Given the description of an element on the screen output the (x, y) to click on. 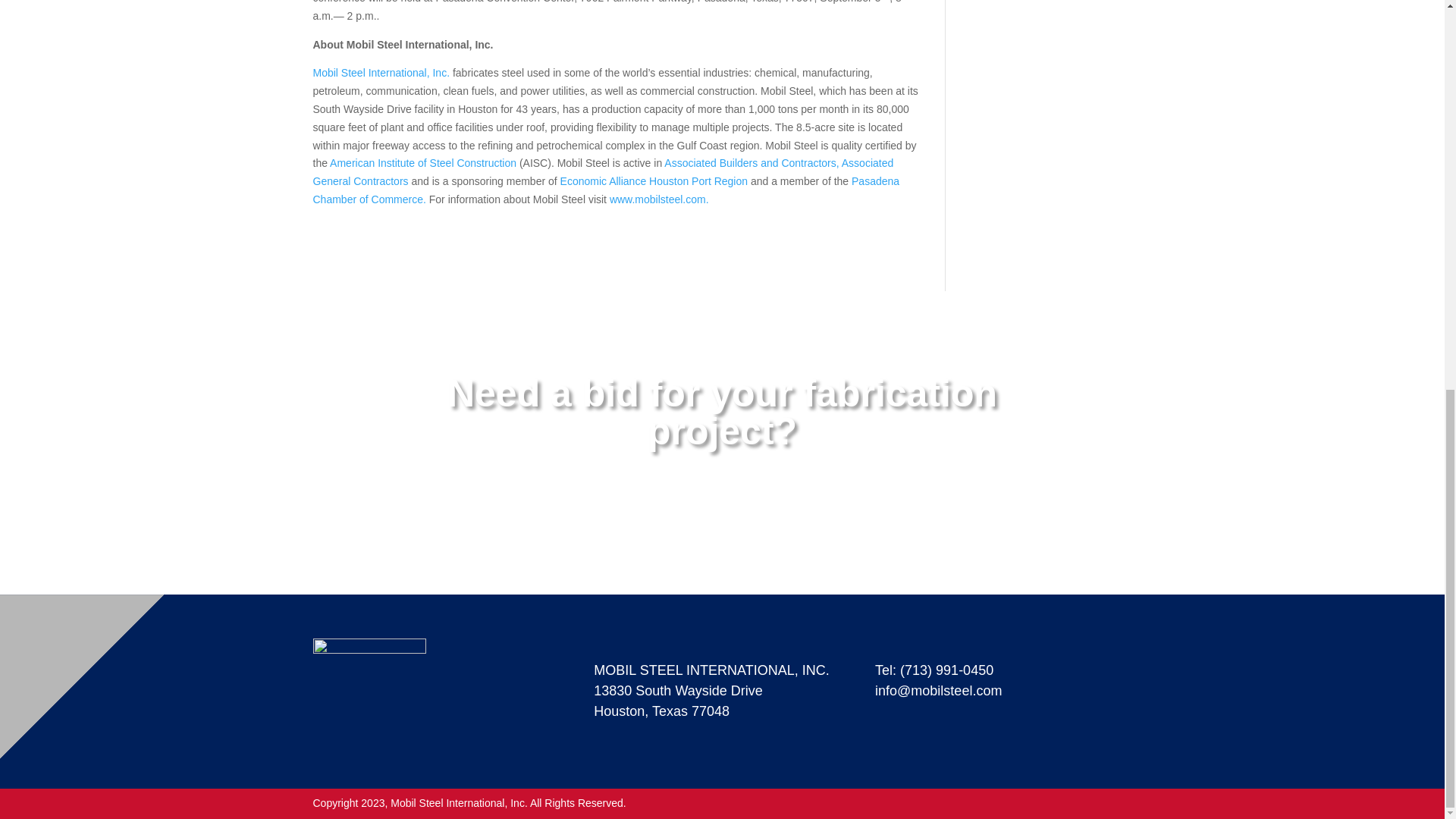
Institute of Steel Construction (448, 162)
Mobil Steel International, Inc. (382, 72)
Contractors, (810, 162)
Associated General Contractors (603, 172)
www.mobilsteel.com. (659, 199)
mobilsteel--white (369, 691)
Houston Port Region (700, 181)
Request A Quote (715, 492)
American (352, 162)
Associated Builders and (720, 162)
